Given the description of an element on the screen output the (x, y) to click on. 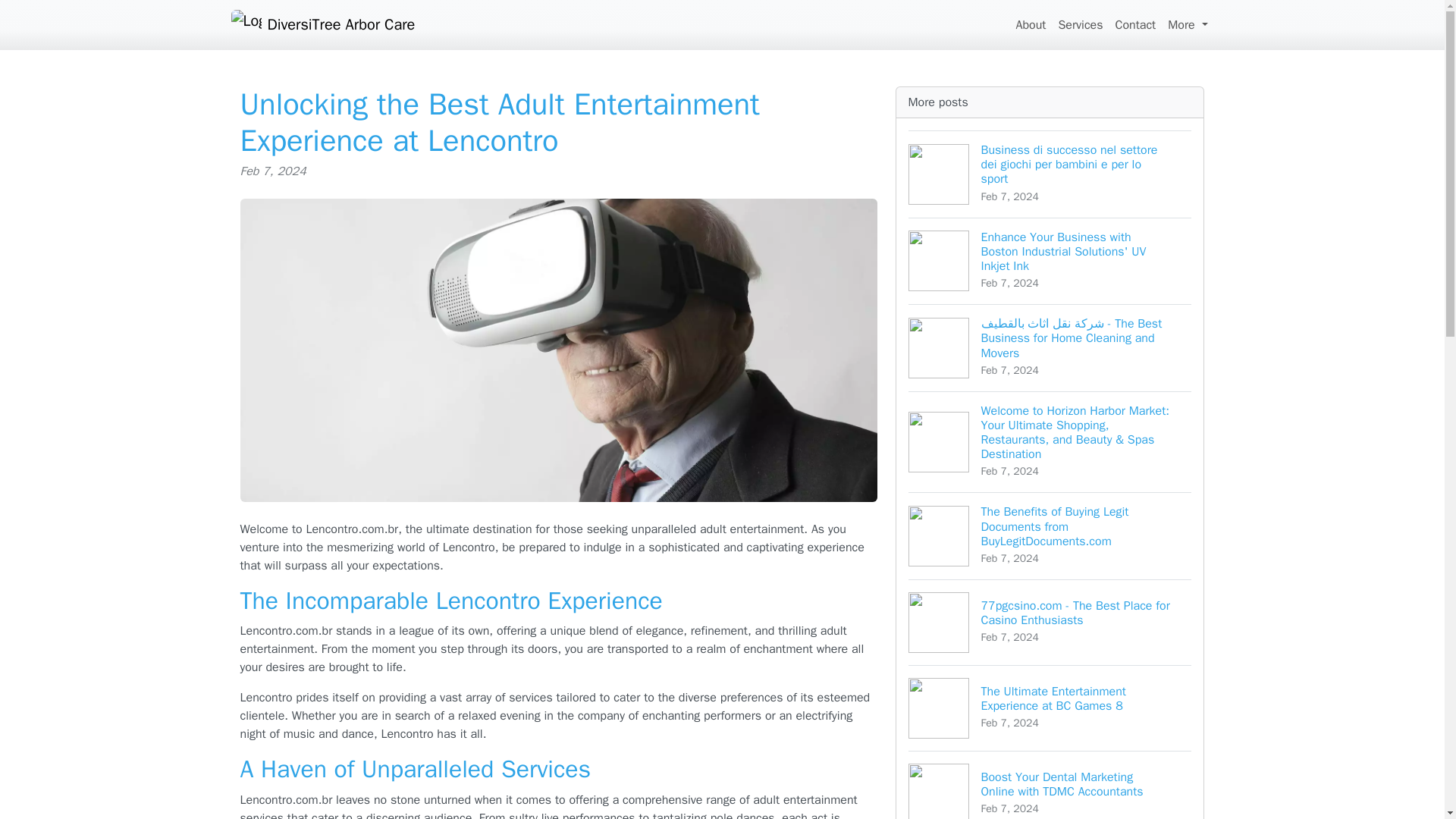
About (1030, 24)
Contact (1134, 24)
DiversiTree Arbor Care (322, 24)
More (1186, 24)
Services (1079, 24)
